Given the description of an element on the screen output the (x, y) to click on. 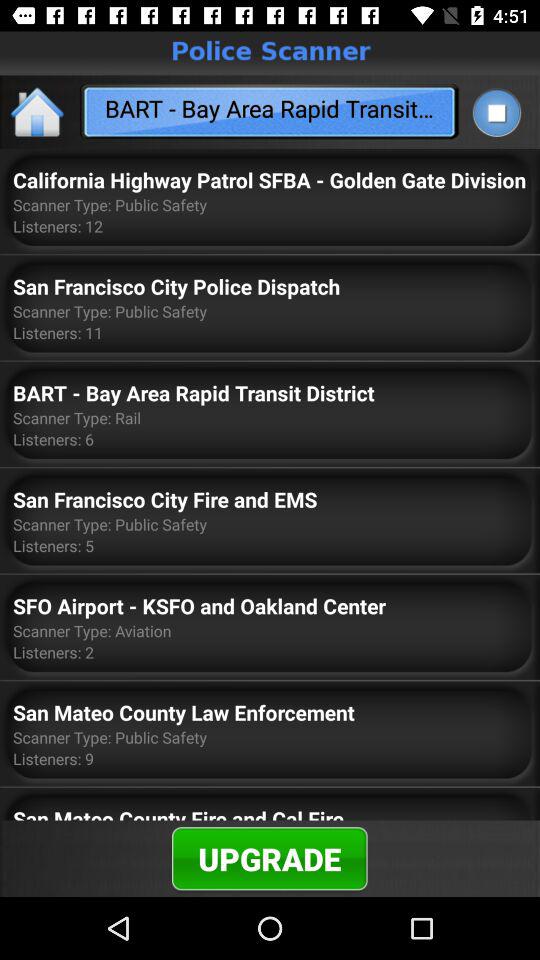
open the item below listeners: 5 item (199, 605)
